Given the description of an element on the screen output the (x, y) to click on. 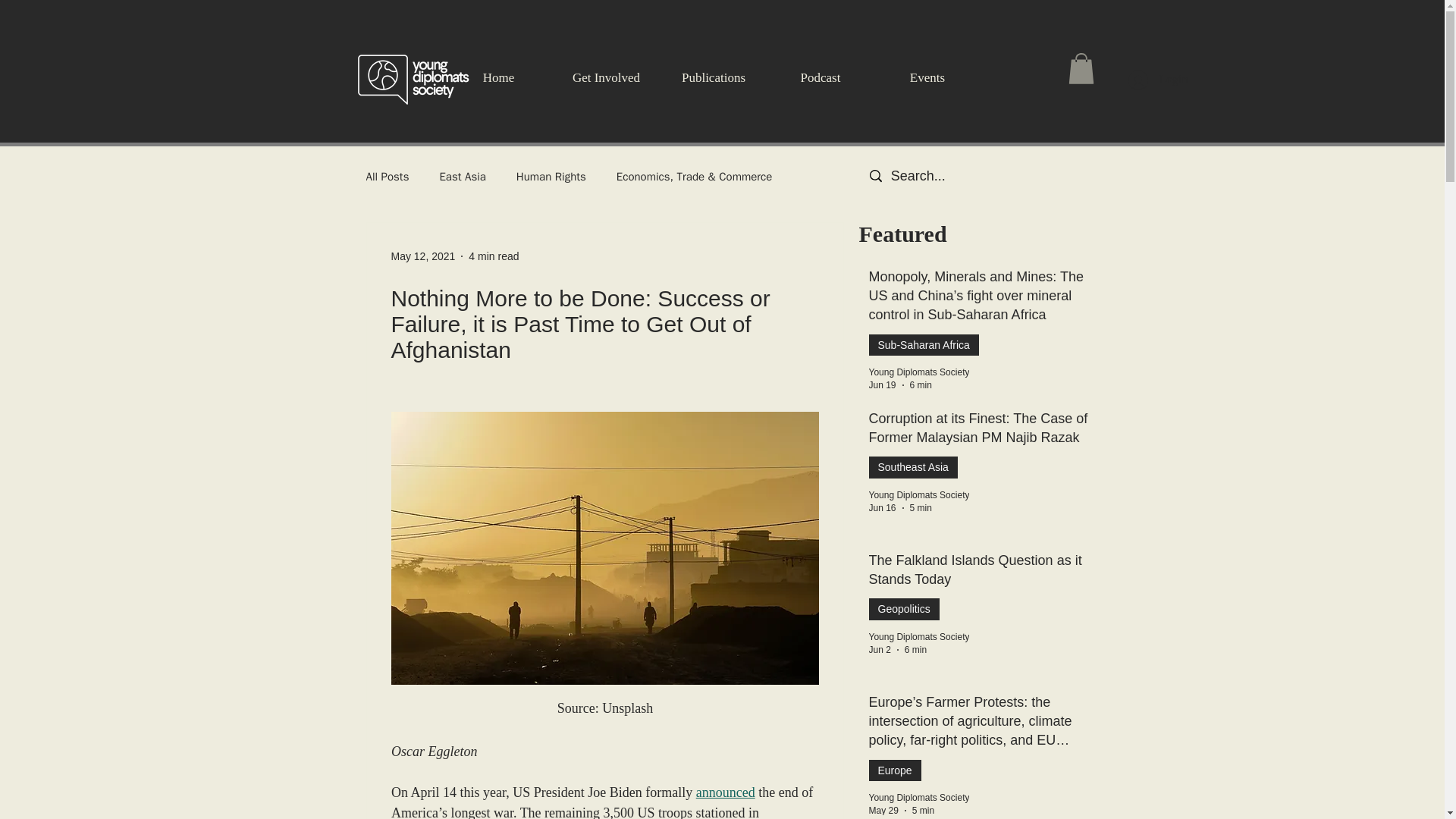
Jun 16 (882, 507)
Get Involved (605, 77)
All Posts (387, 176)
Young Diplomats Society (919, 797)
Home (497, 77)
Login (1158, 79)
6 min (915, 649)
Human Rights (551, 176)
Young Diplomats Society (919, 636)
Young Diplomats Society (919, 494)
Publications (713, 77)
Events (926, 77)
6 min (920, 385)
4 min read (493, 256)
May 29 (883, 810)
